Given the description of an element on the screen output the (x, y) to click on. 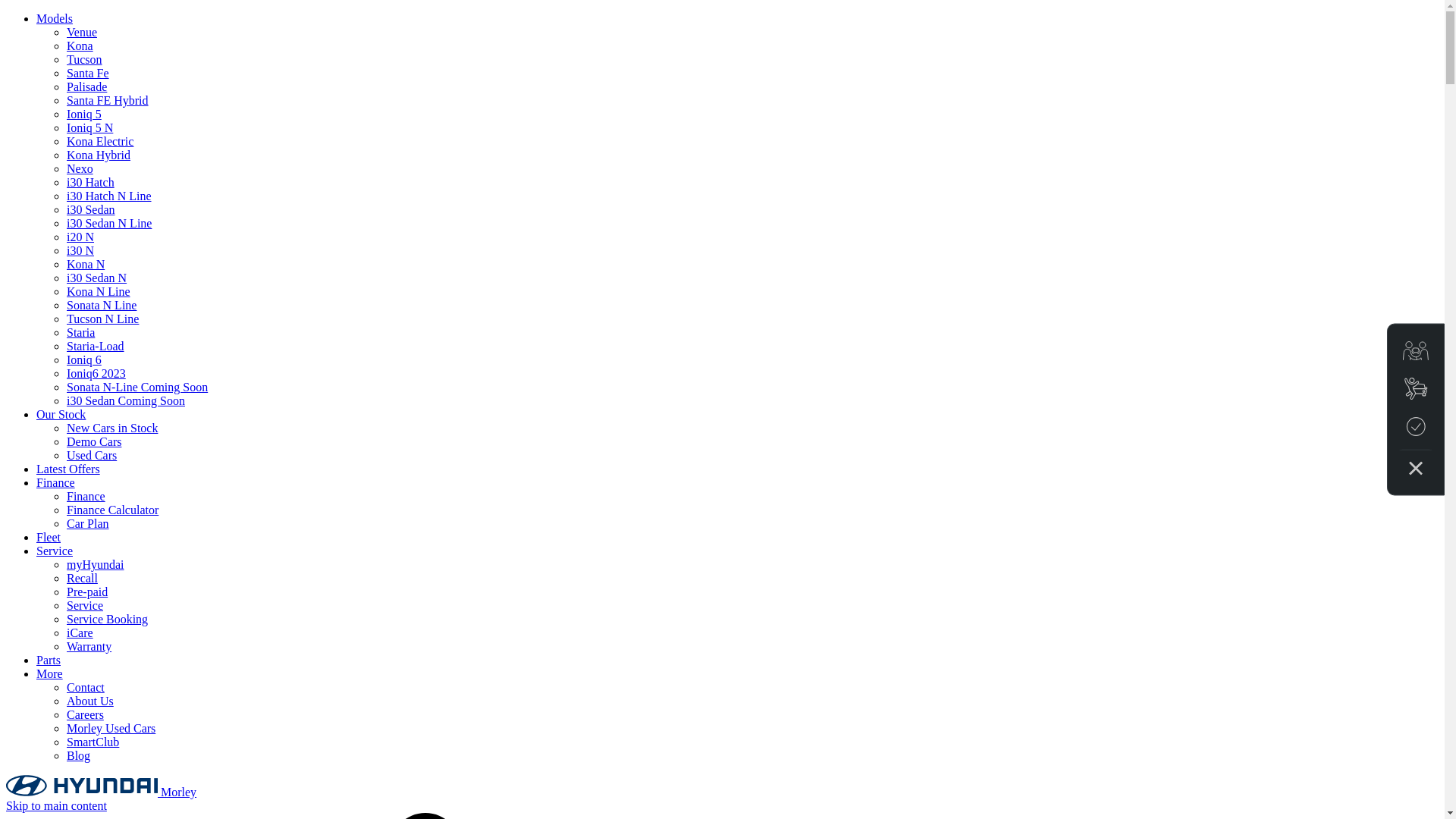
Kona N Element type: text (85, 263)
Ioniq 6 Element type: text (83, 359)
Palisade Element type: text (86, 86)
Finance Element type: text (55, 482)
Our Stock Element type: text (60, 413)
More Element type: text (49, 673)
Models Element type: text (54, 18)
Finance Calculator Element type: text (112, 509)
Morley Used Cars Element type: text (110, 727)
New Cars in Stock Element type: text (111, 427)
Car Plan Element type: text (87, 523)
Kona Hybrid Element type: text (98, 154)
Skip to main content Element type: text (56, 805)
i30 Hatch N Line Element type: text (108, 195)
Recall Element type: text (81, 577)
Staria Element type: text (80, 332)
Blog Element type: text (78, 755)
Kona N Line Element type: text (98, 291)
Kona Element type: text (79, 45)
Tucson Element type: text (84, 59)
Warranty Element type: text (88, 646)
i30 Sedan Element type: text (90, 209)
Service Element type: text (84, 605)
Fleet Element type: text (48, 536)
i30 Sedan N Element type: text (96, 277)
i30 Hatch Element type: text (90, 181)
Service Booking Element type: text (106, 618)
Venue Element type: text (81, 31)
Latest Offers Element type: text (68, 468)
Parts Element type: text (48, 659)
Tucson N Line Element type: text (102, 318)
Ioniq6 2023 Element type: text (95, 373)
Santa FE Hybrid Element type: text (107, 100)
iCare Element type: text (79, 632)
myHyundai Element type: text (95, 564)
Santa Fe Element type: text (87, 72)
i20 N Element type: text (80, 236)
Nexo Element type: text (79, 168)
Used Cars Element type: text (91, 454)
i30 Sedan N Line Element type: text (108, 222)
Contact Element type: text (85, 686)
Staria-Load Element type: text (95, 345)
Demo Cars Element type: text (93, 441)
Ioniq 5 N Element type: text (89, 127)
Sonata N Line Element type: text (101, 304)
Sonata N-Line Coming Soon Element type: text (136, 386)
Ioniq 5 Element type: text (83, 113)
Morley Element type: text (101, 791)
Kona Electric Element type: text (99, 140)
Pre-paid Element type: text (86, 591)
SmartClub Element type: text (92, 741)
i30 N Element type: text (80, 250)
About Us Element type: text (89, 700)
Service Element type: text (54, 550)
Finance Element type: text (85, 495)
Careers Element type: text (84, 714)
i30 Sedan Coming Soon Element type: text (125, 400)
